Given the description of an element on the screen output the (x, y) to click on. 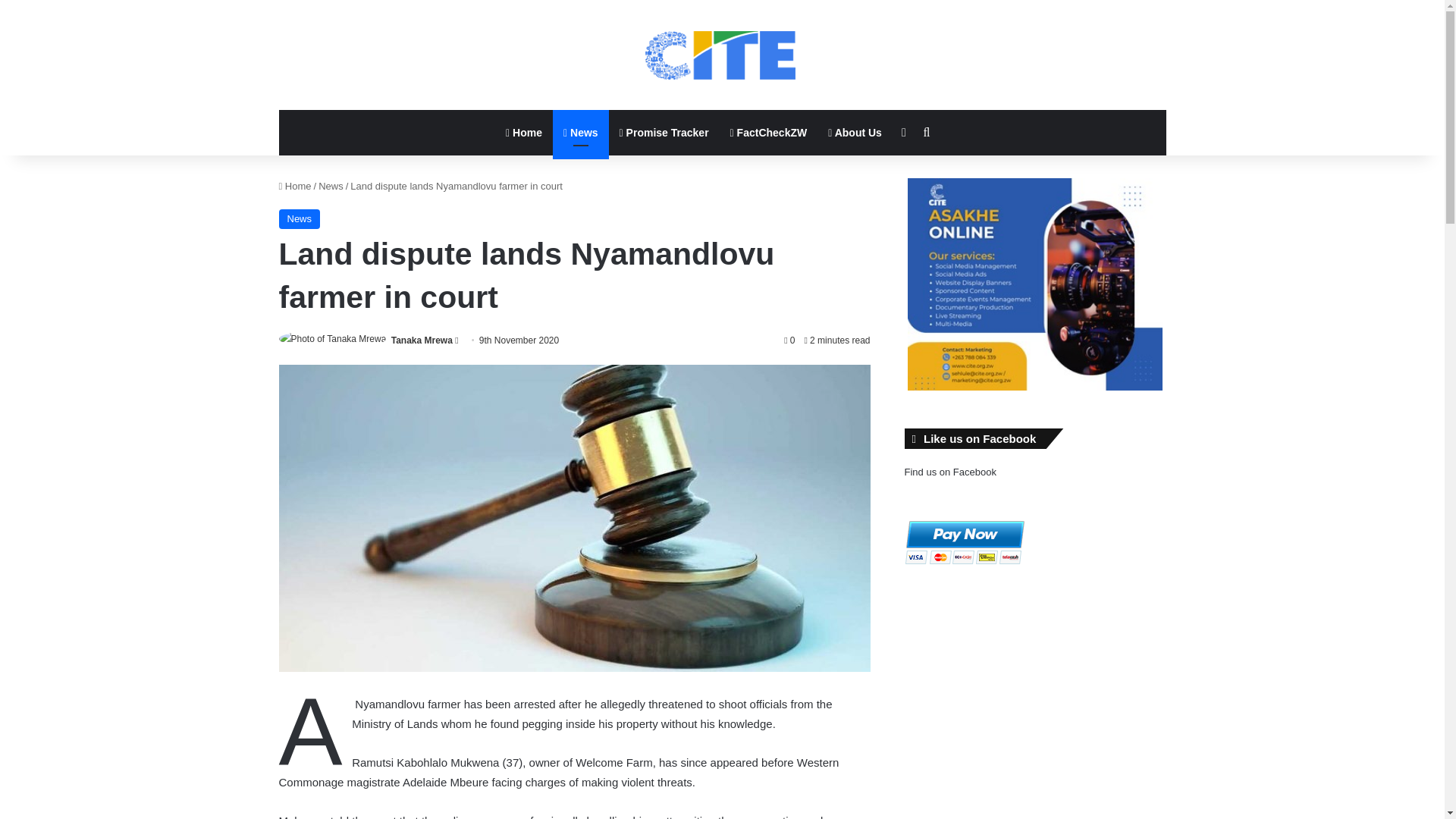
FactCheckZW (768, 132)
Promise Tracker (663, 132)
Tanaka Mrewa (421, 339)
News (299, 219)
Home (524, 132)
Home (295, 185)
News (580, 132)
About Us (854, 132)
News (330, 185)
Tanaka Mrewa (421, 339)
